Given the description of an element on the screen output the (x, y) to click on. 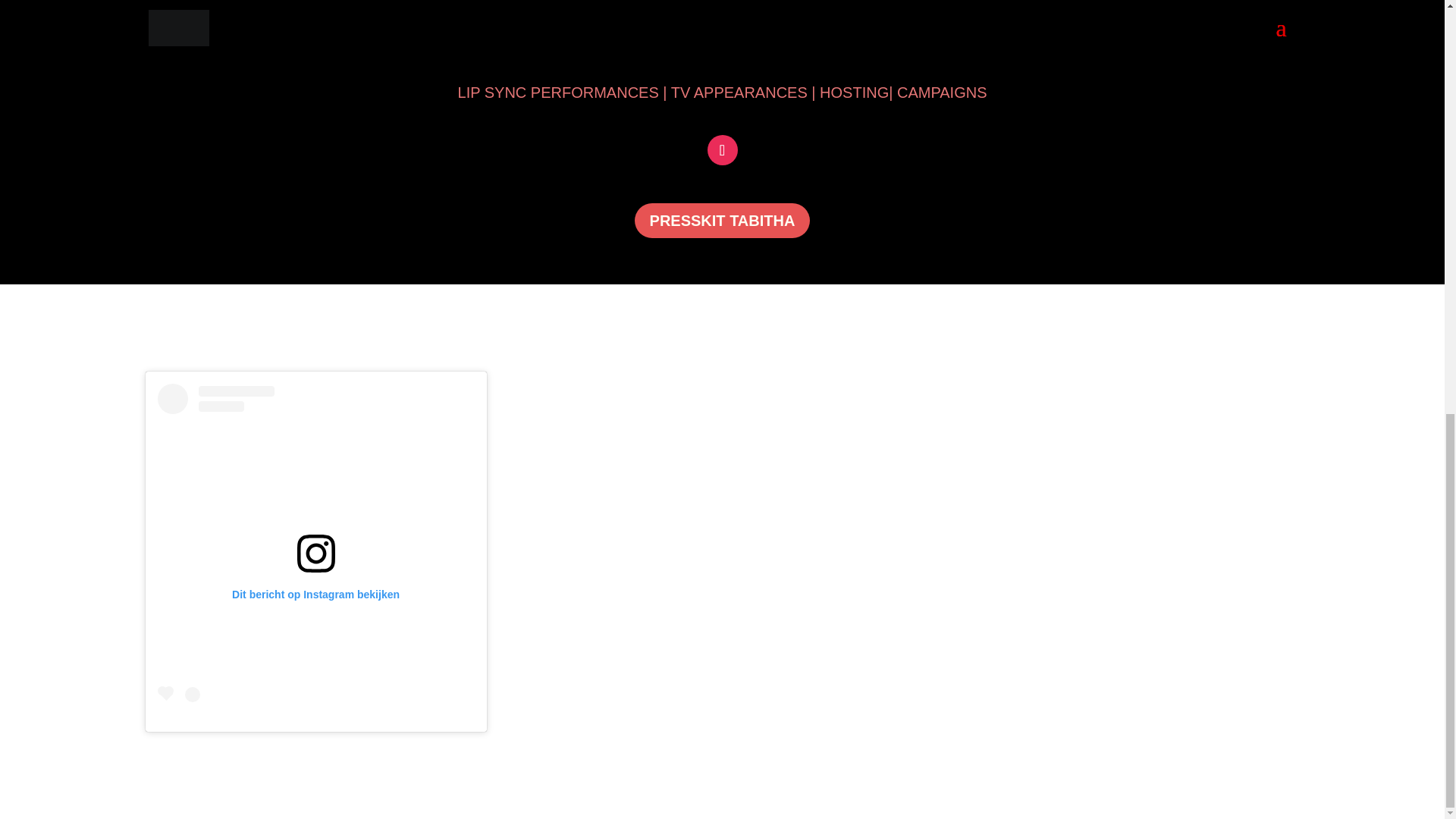
BOOK TABITHA (721, 32)
Dit bericht op Instagram bekijken (315, 546)
Follow on Instagram (721, 150)
PRESSKIT TABITHA (722, 220)
